Given the description of an element on the screen output the (x, y) to click on. 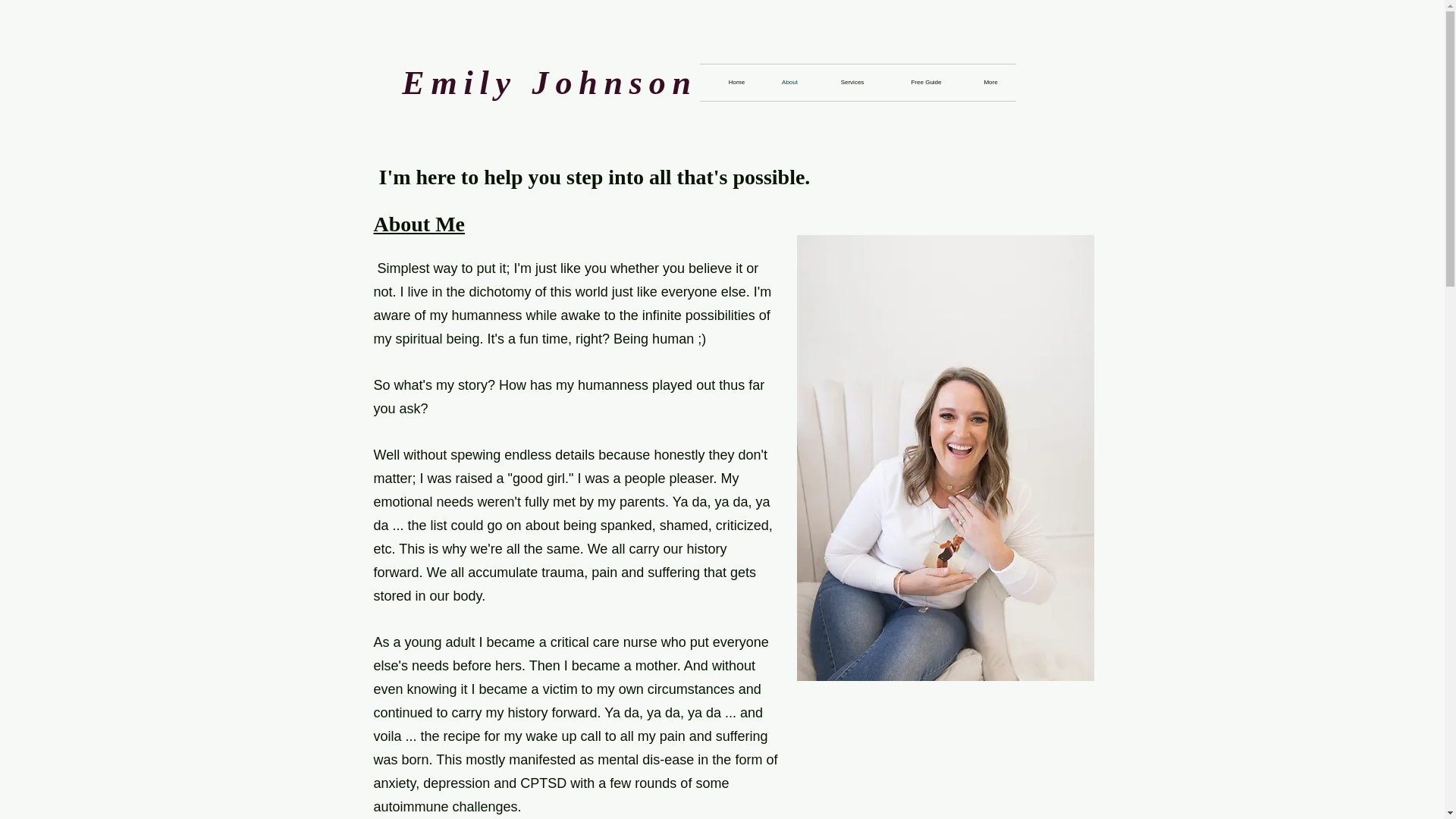
Emily Johnson (549, 82)
Services (851, 82)
Free Guide (926, 82)
About (788, 82)
Home (736, 82)
